Given the description of an element on the screen output the (x, y) to click on. 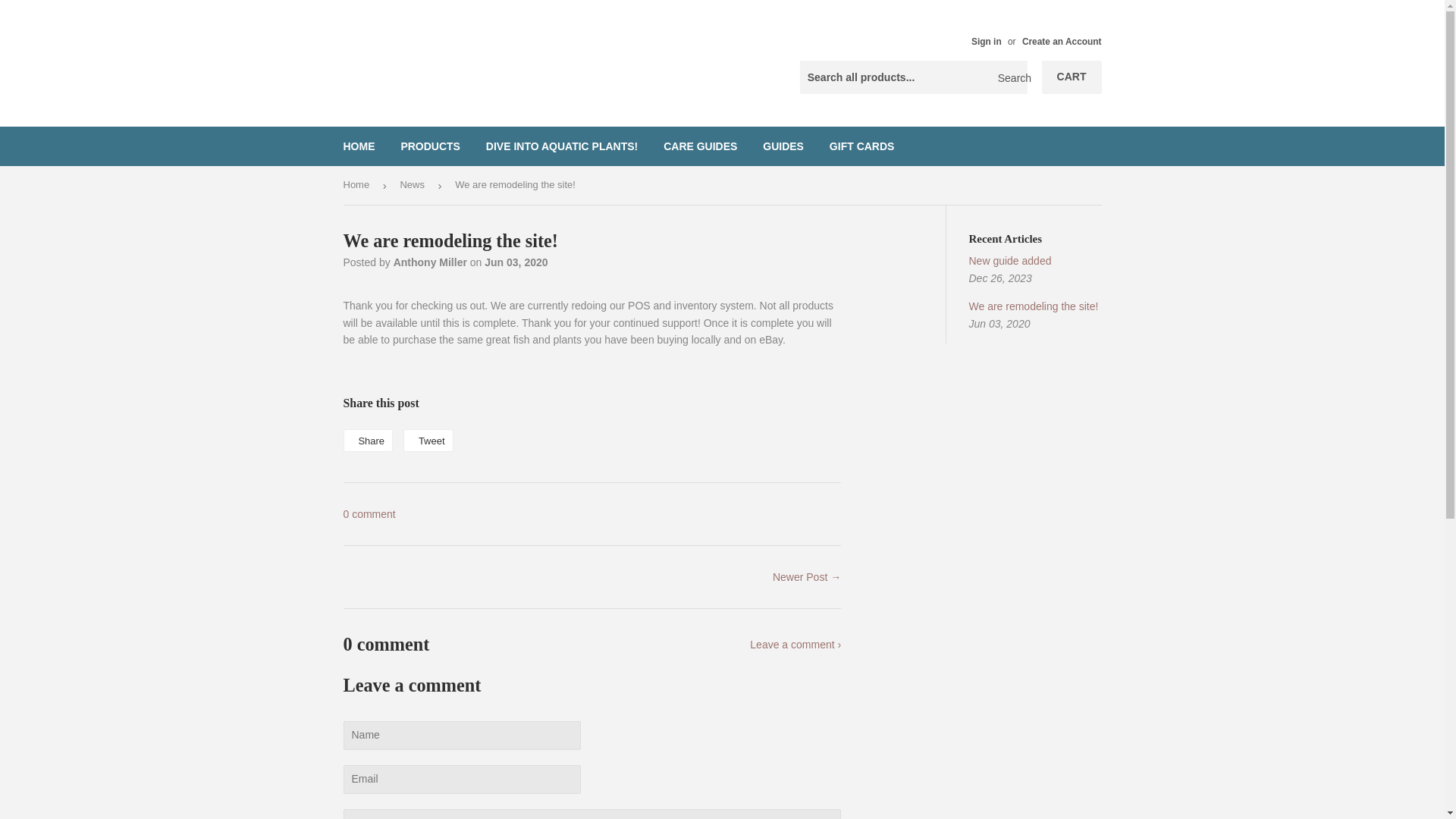
CARE GUIDES (700, 146)
Create an Account (1062, 41)
Back to the frontpage (358, 185)
0 comment (368, 513)
Search (1009, 78)
PRODUCTS (429, 146)
New guide added (367, 440)
HOME (1010, 260)
Sign in (359, 146)
CART (986, 41)
DIVE INTO AQUATIC PLANTS! (1072, 77)
Tweet on Twitter (561, 146)
GUIDES (427, 440)
Home (783, 146)
